Given the description of an element on the screen output the (x, y) to click on. 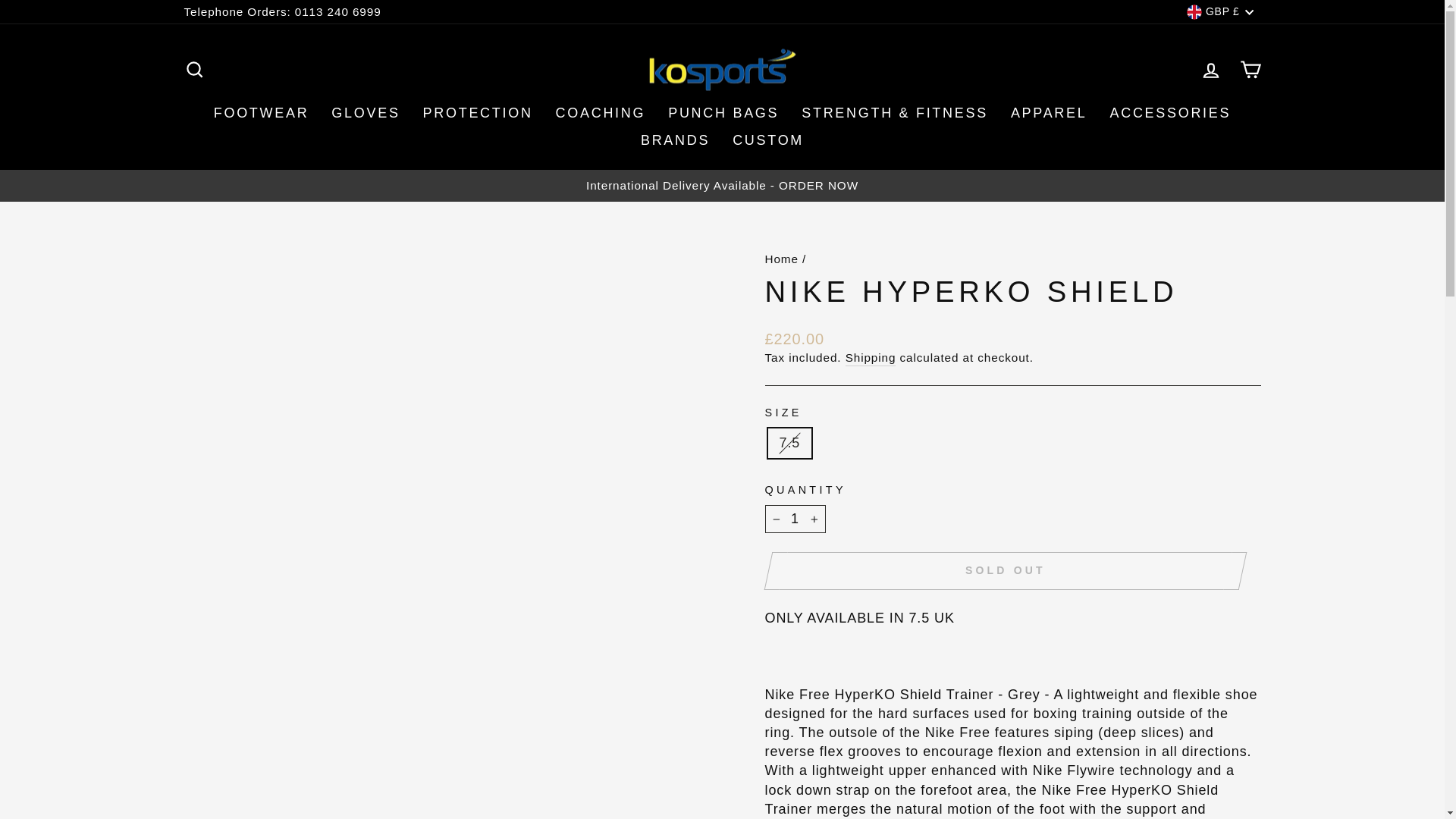
1 (794, 519)
Back to the frontpage (780, 258)
